Given the description of an element on the screen output the (x, y) to click on. 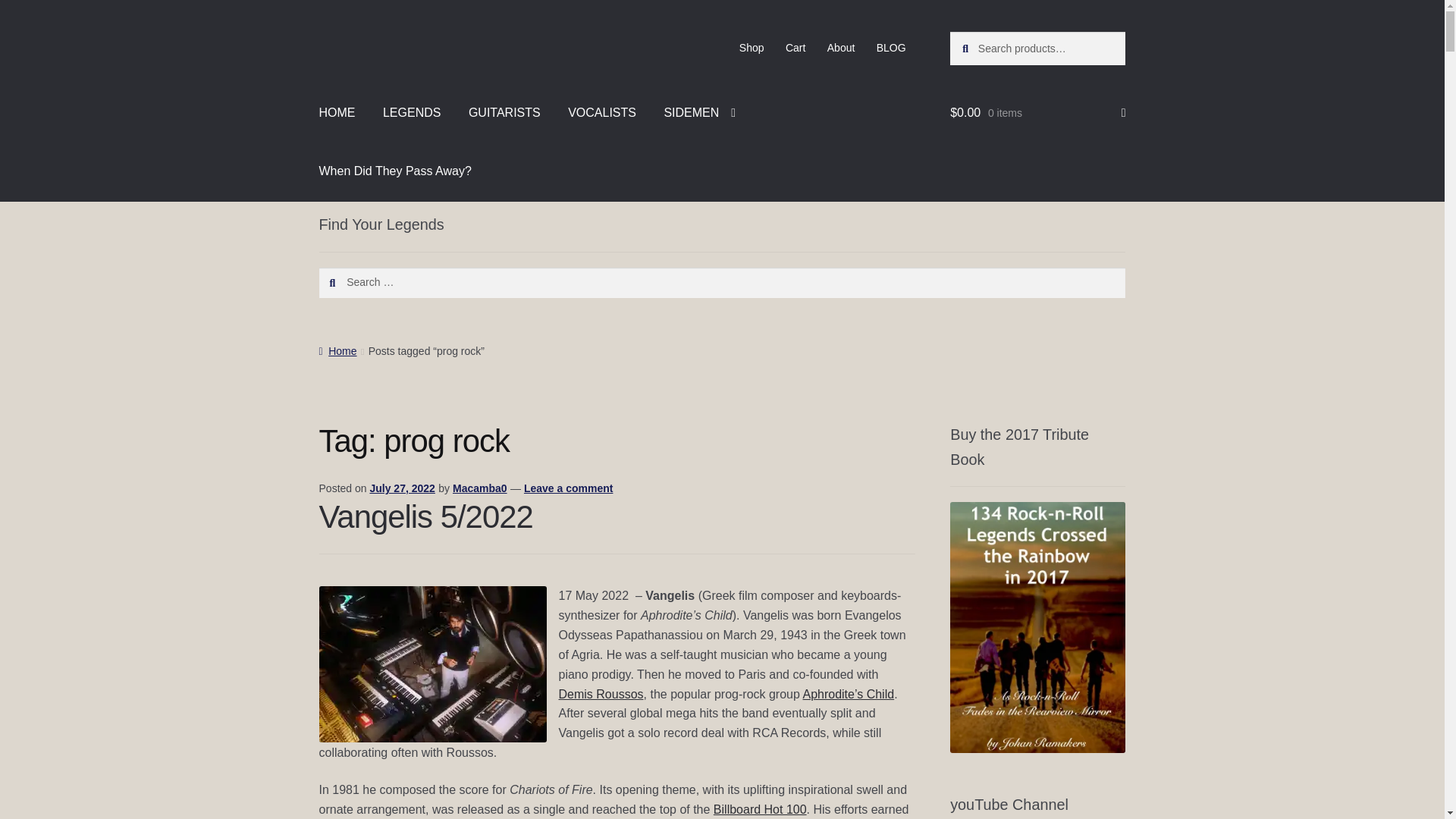
Cart (795, 47)
When Did They Pass Away? (395, 170)
HOME (337, 112)
LEGENDS (411, 112)
BLOG (891, 47)
View your shopping cart (1037, 112)
GUITARISTS (505, 112)
